Given the description of an element on the screen output the (x, y) to click on. 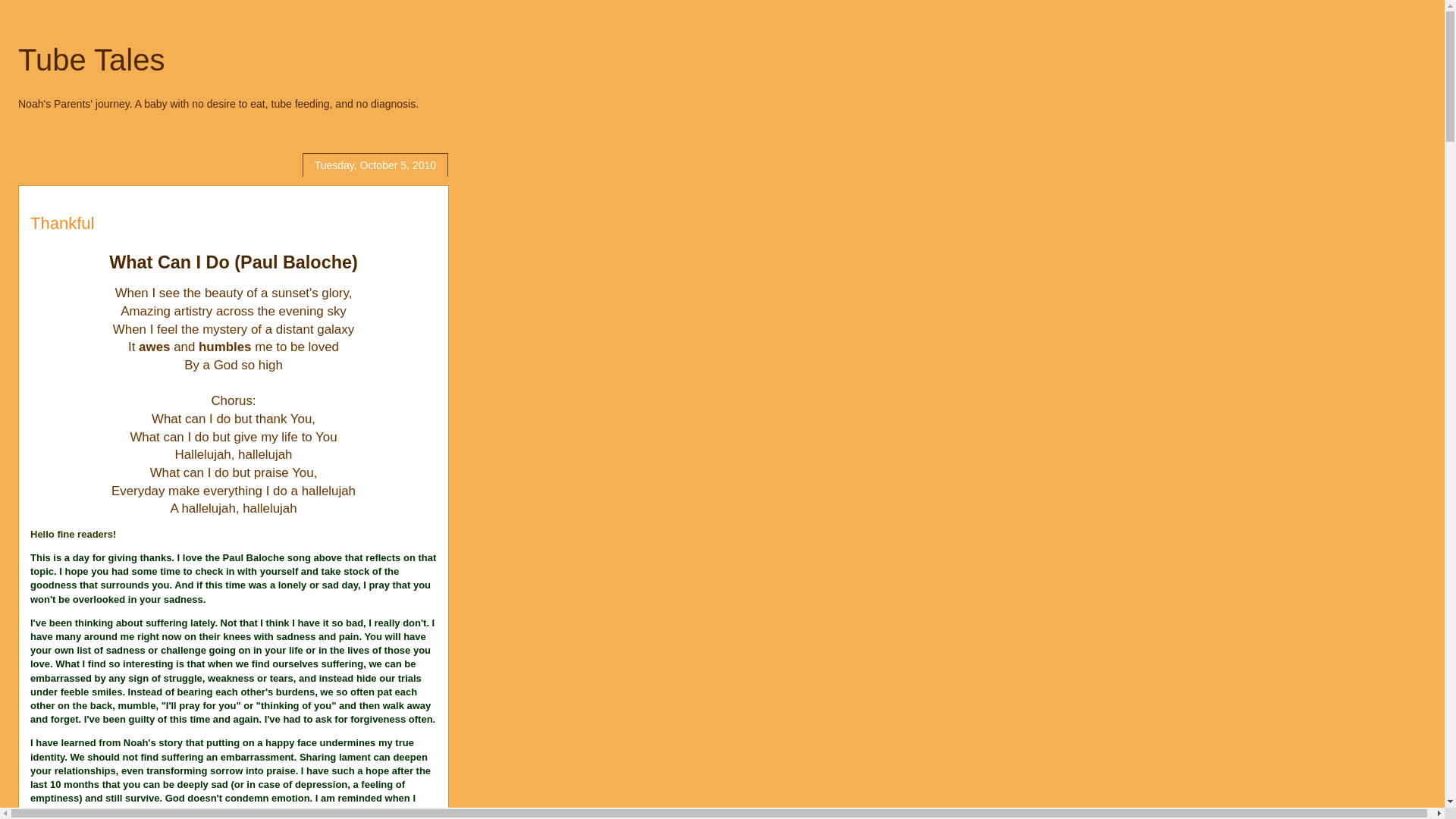
Tube Tales (90, 59)
